Given the description of an element on the screen output the (x, y) to click on. 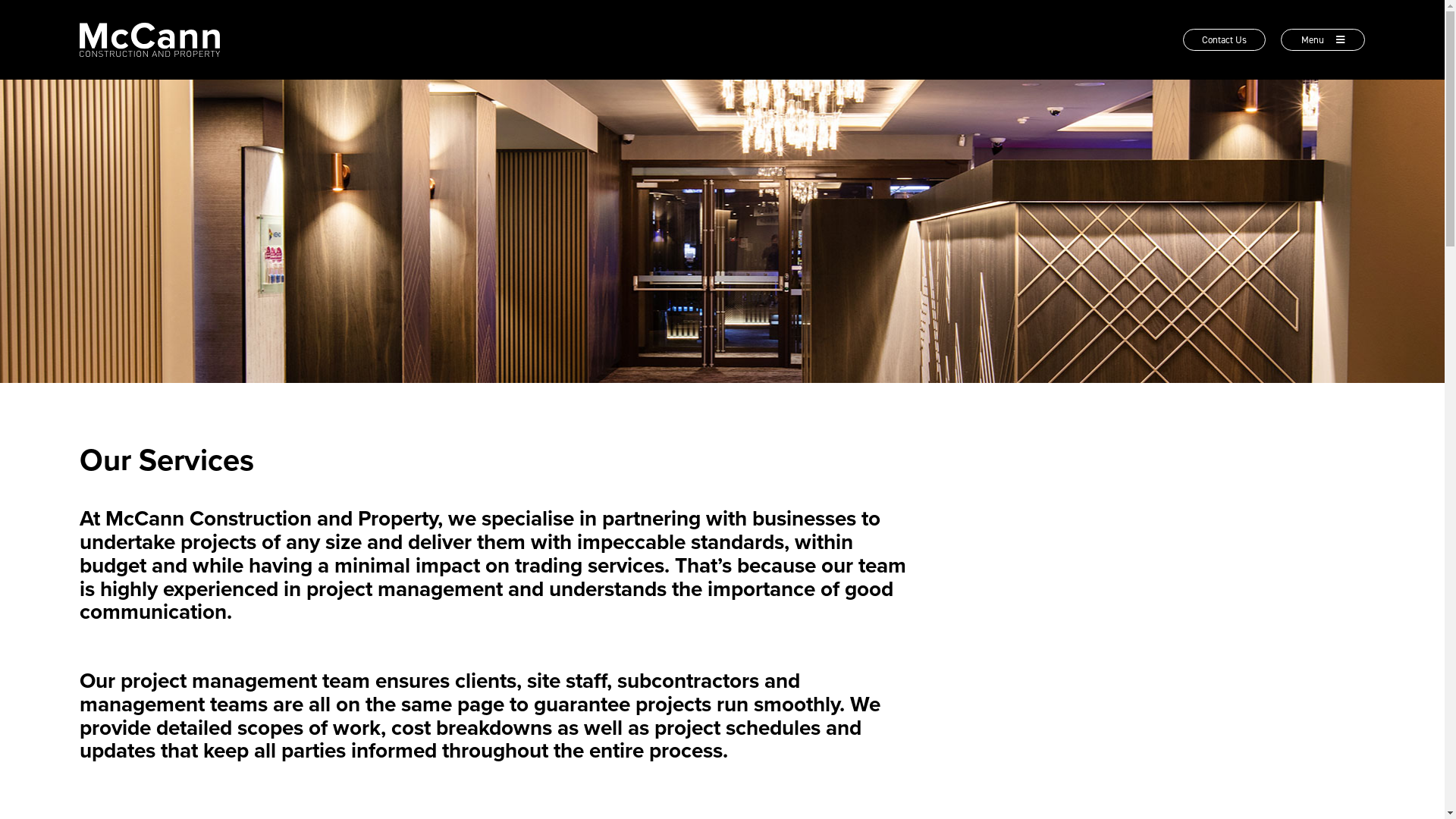
Contact Us Element type: text (1224, 39)
Menu Element type: text (1322, 39)
